Given the description of an element on the screen output the (x, y) to click on. 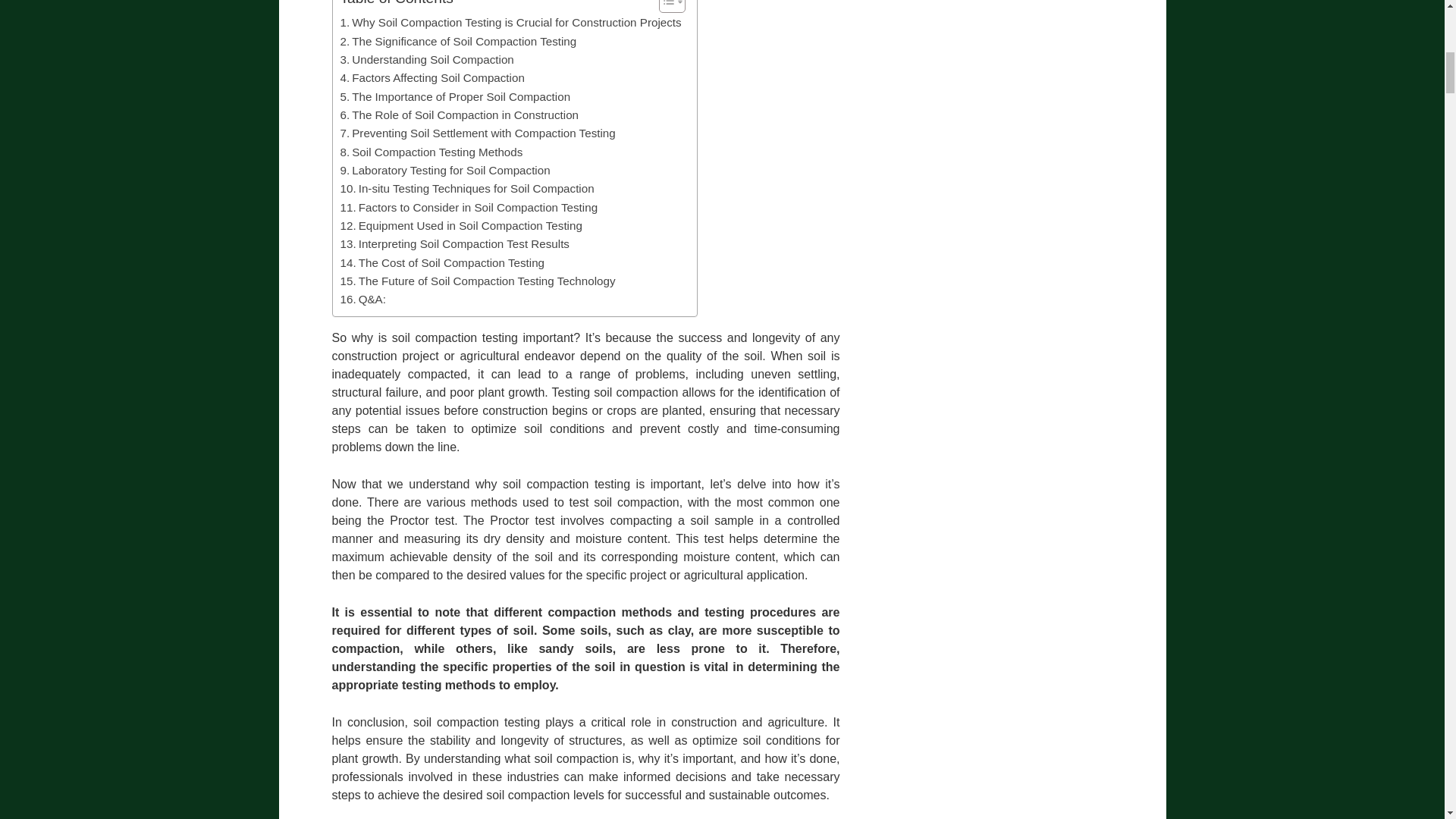
Interpreting Soil Compaction Test Results (454, 244)
The Significance of Soil Compaction Testing (457, 41)
Soil Compaction Testing Methods (430, 152)
Preventing Soil Settlement with Compaction Testing (476, 133)
The Significance of Soil Compaction Testing (457, 41)
The Role of Soil Compaction in Construction (458, 115)
The Role of Soil Compaction in Construction (458, 115)
The Future of Soil Compaction Testing Technology (476, 280)
In-situ Testing Techniques for Soil Compaction (466, 188)
Laboratory Testing for Soil Compaction (444, 170)
